Given the description of an element on the screen output the (x, y) to click on. 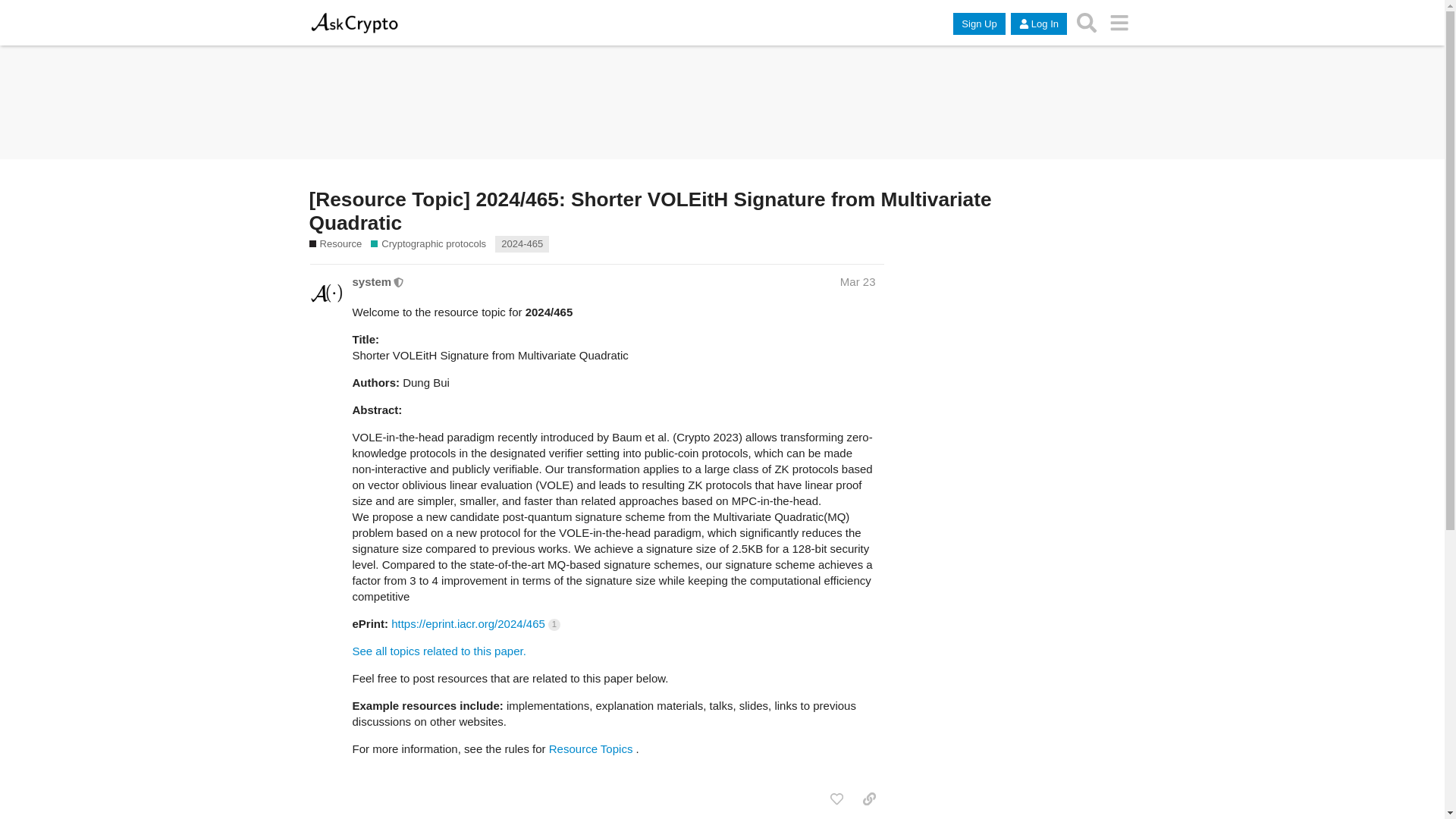
Sign Up (978, 24)
menu (1119, 22)
Post date (858, 281)
2024-465 (521, 243)
This user is a moderator (398, 281)
Search (1086, 22)
Mar 23 (858, 281)
Log In (1038, 24)
Cryptographic protocols (428, 243)
See all topics related to this paper. (438, 650)
Resource Topics (590, 748)
share a link to this post (869, 799)
Resource (335, 243)
system (371, 281)
like this post (836, 799)
